Given the description of an element on the screen output the (x, y) to click on. 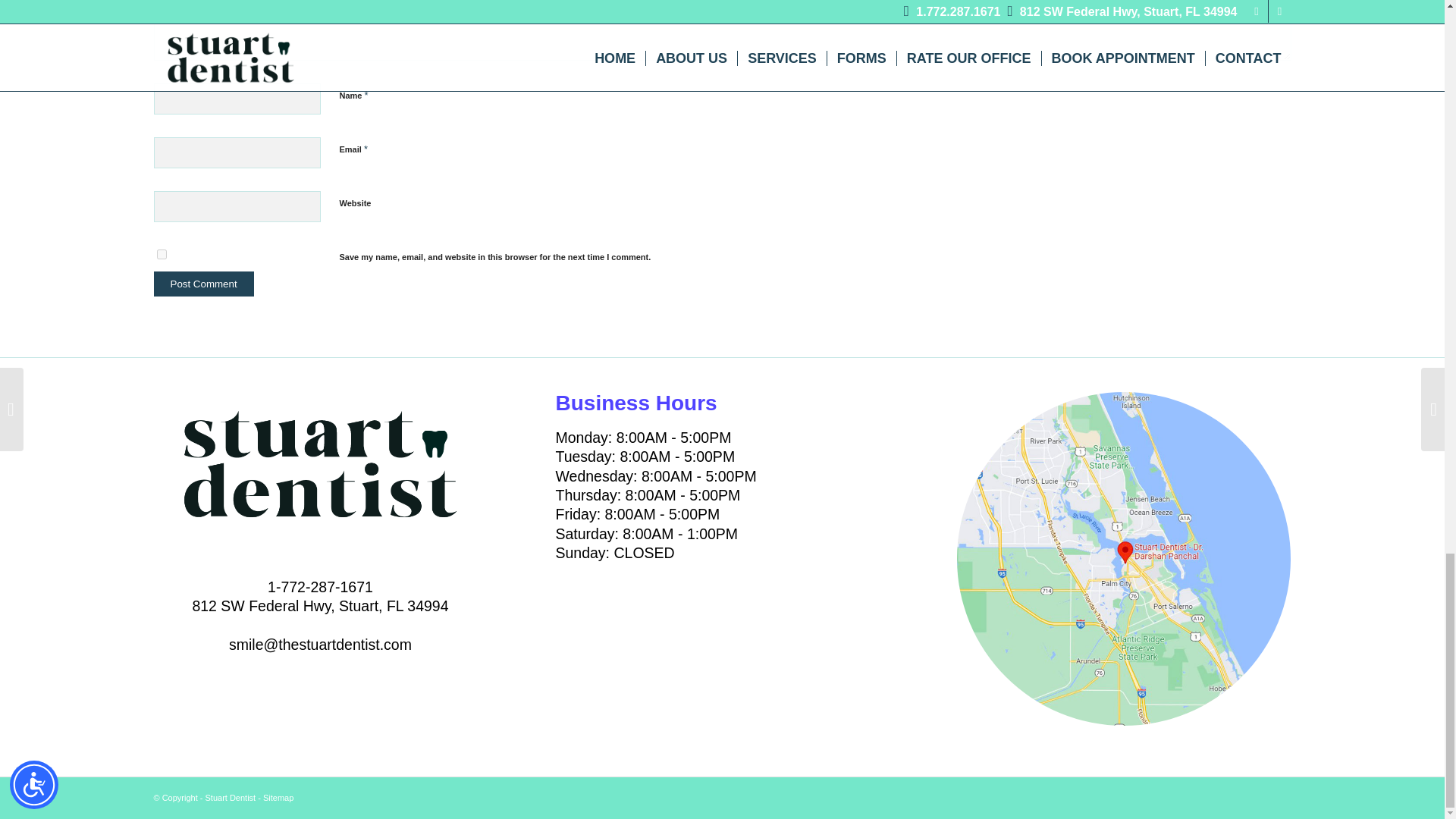
Post Comment (202, 283)
yes (160, 254)
